Given the description of an element on the screen output the (x, y) to click on. 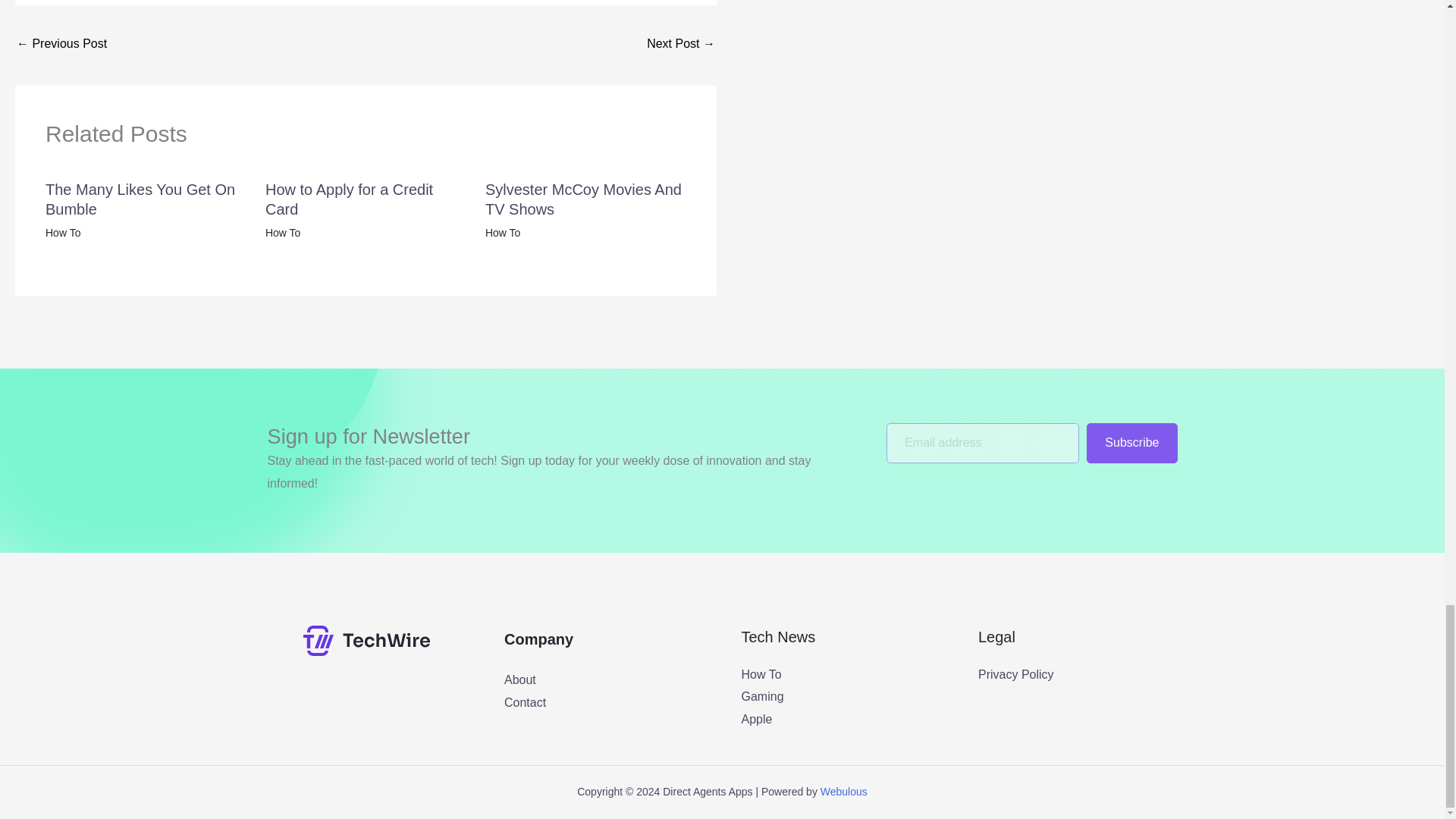
How To (62, 232)
Please fill in this field. (982, 443)
Sylvester McCoy Movies And TV Shows (582, 198)
How To Leave Google Review (61, 44)
Games Like Borderlands (680, 44)
Subscribe (1131, 443)
How To (761, 674)
Contact (524, 702)
How To (501, 232)
Privacy Policy (1016, 674)
Gaming (762, 696)
Webulous (844, 791)
Apple (757, 718)
The Many Likes You Get On Bumble (139, 198)
About (519, 680)
